Given the description of an element on the screen output the (x, y) to click on. 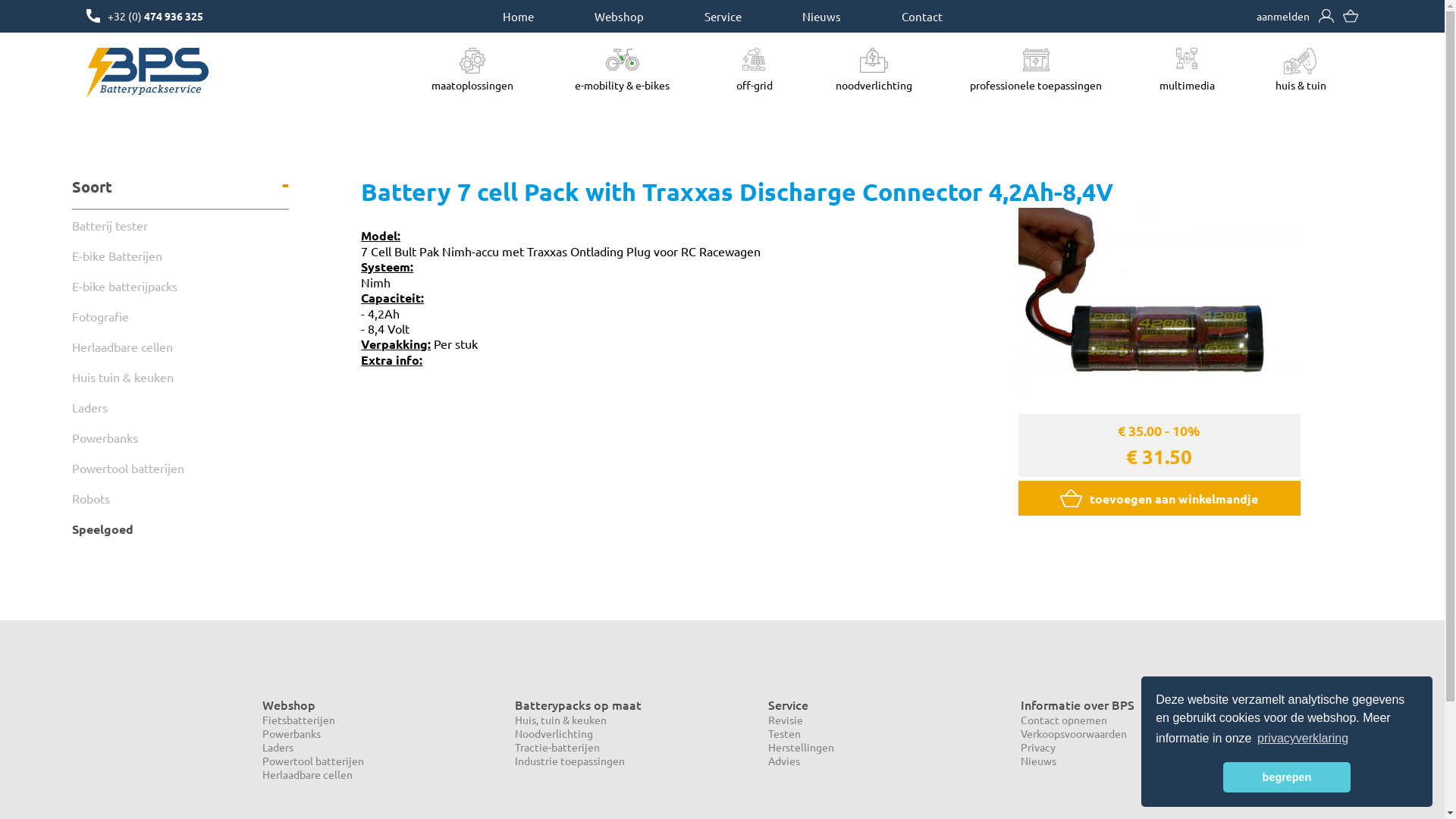
begrepen Element type: text (1286, 777)
Powerbanks Element type: text (291, 733)
multimedia Element type: text (1186, 69)
e-mobility & e-bikes Element type: text (621, 69)
Nieuwe batterijen voor je fototoestel of DSLR Element type: hover (1186, 58)
Testen Element type: text (783, 733)
Privacy Element type: text (1037, 746)
Herlaadbare cellen Element type: text (307, 774)
noodverlichting Element type: text (873, 69)
aanmelden Element type: text (1282, 15)
Vervang de batterij van jouw elektrische boormachine Element type: hover (873, 59)
Tractie-batterijen Element type: text (556, 746)
Lipo batterijen voor huis tuin en keuken apparaten Element type: hover (1300, 60)
Service Element type: text (722, 16)
Nieuws Element type: text (821, 16)
Laders Element type: text (277, 746)
Laders Element type: text (180, 407)
Fietsbatterijen Element type: text (298, 719)
Noodverlichting Element type: text (553, 733)
Batterijen op maat laten maken Element type: hover (472, 60)
Verkoopsvoorwaarden Element type: text (1073, 733)
Herlaadbare cellen Element type: text (180, 346)
Fotografie Element type: text (180, 316)
Advies Element type: text (783, 760)
Batterijen en ombouwsets voor elektrische fietsen Element type: hover (621, 58)
Speelgoed Element type: text (180, 528)
Huis, tuin & keuken Element type: text (560, 719)
off-grid Element type: text (754, 69)
maatoplossingen Element type: text (472, 69)
Contact opnemen Element type: text (1063, 719)
Home Element type: text (517, 16)
Industrie toepassingen Element type: text (569, 760)
Batterij tester Element type: text (180, 225)
E-bike Batterijen Element type: text (180, 255)
Robots Element type: text (180, 498)
Powerbanks voor GSM, smartphone of tablet Element type: hover (1035, 59)
Huis tuin & keuken Element type: text (180, 376)
Nieuws Element type: text (1038, 760)
Ombouwkit voor elektrische fiets Element type: hover (754, 58)
Powertool batterijen Element type: text (180, 467)
Powertool batterijen Element type: text (313, 760)
Powerbanks Element type: text (180, 437)
Het logo van batterypackservice Element type: hover (147, 72)
Revisie Element type: text (784, 719)
privacyverklaring Element type: text (1302, 738)
Contact Element type: text (921, 16)
Herstellingen Element type: text (800, 746)
huis & tuin Element type: text (1300, 69)
Webshop Element type: text (619, 16)
E-bike batterijpacks Element type: text (180, 285)
professionele toepassingen Element type: text (1035, 69)
